Given the description of an element on the screen output the (x, y) to click on. 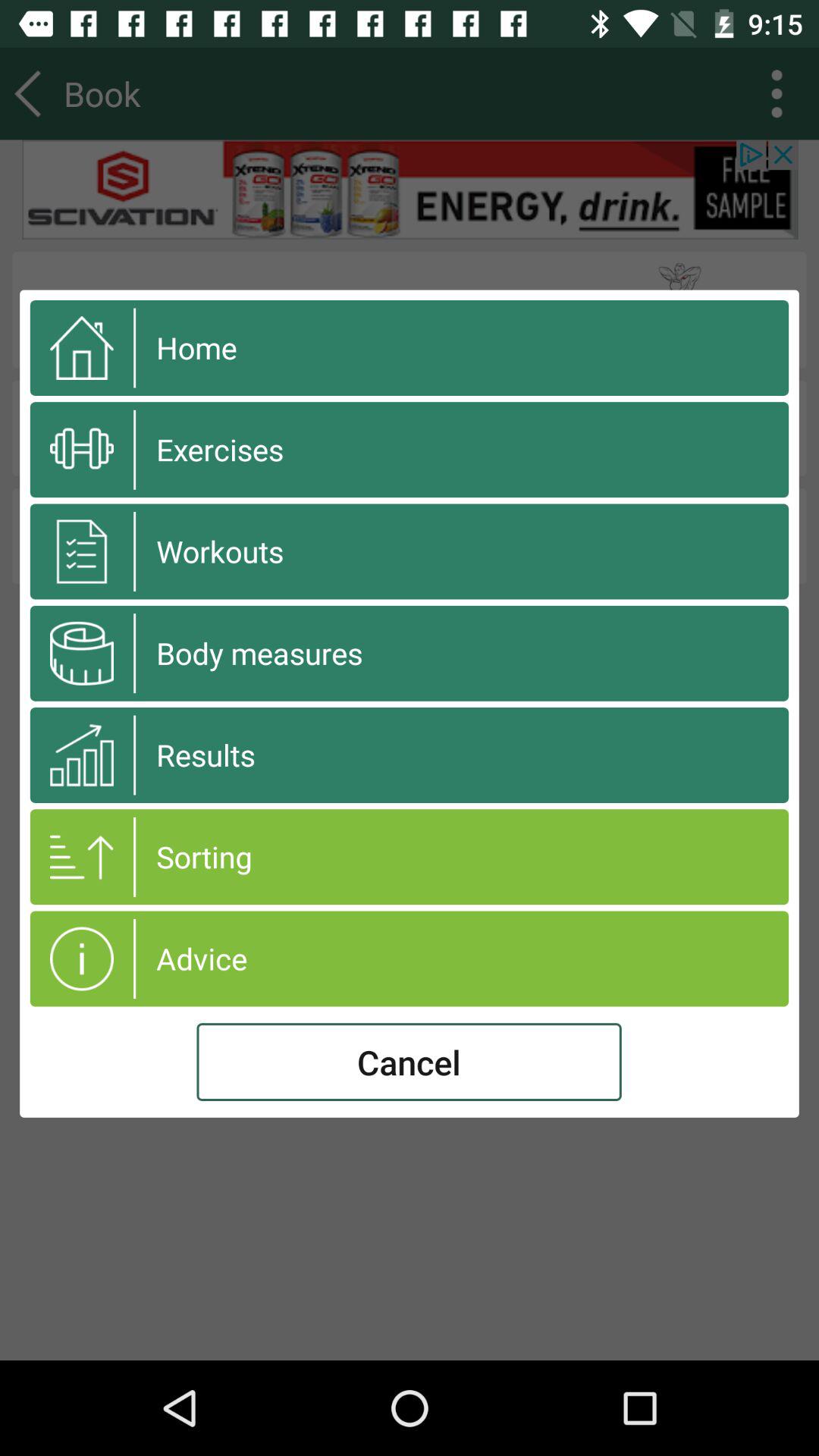
press cancel item (408, 1062)
